Given the description of an element on the screen output the (x, y) to click on. 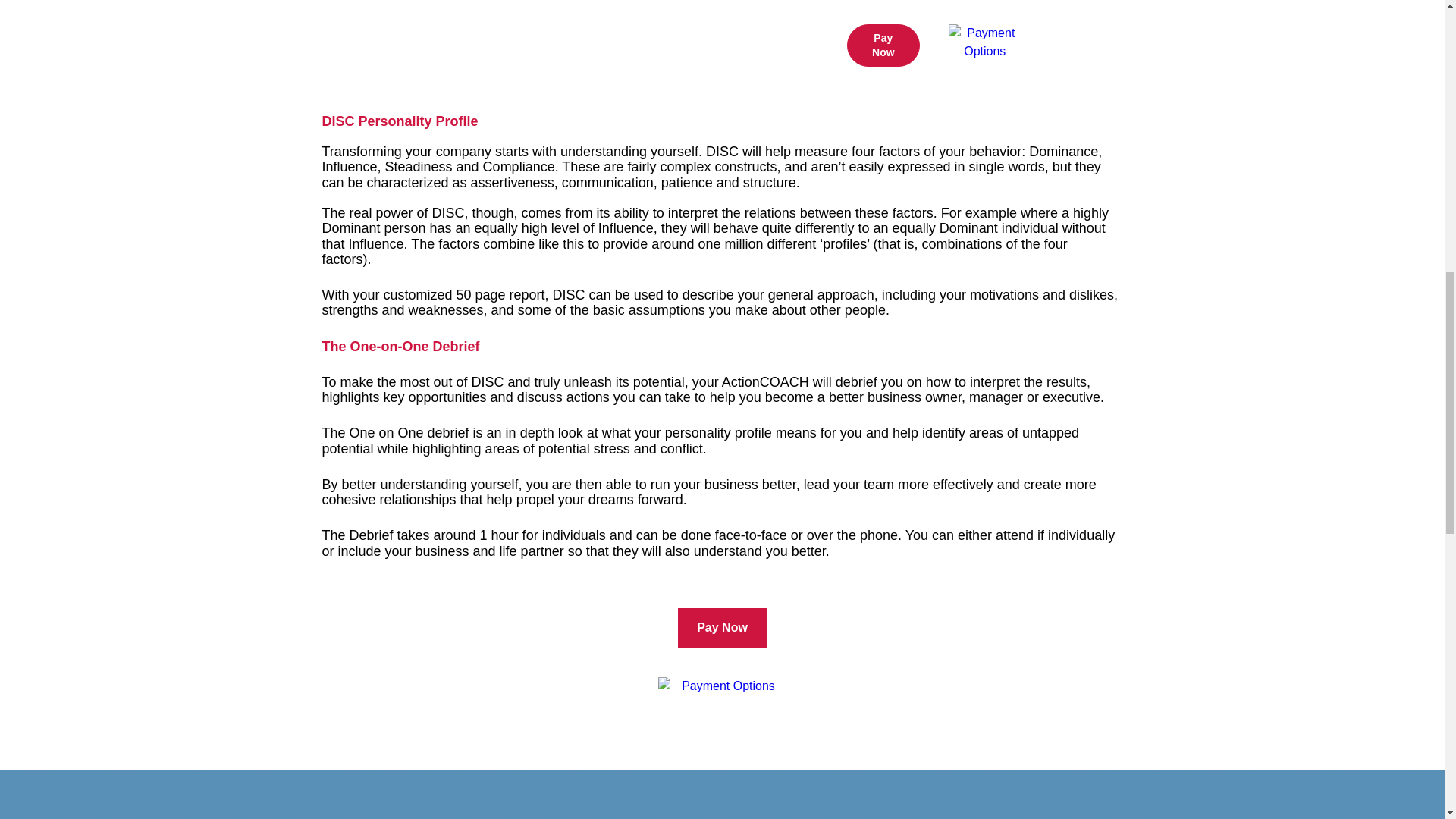
Pay Now (883, 45)
